Given the description of an element on the screen output the (x, y) to click on. 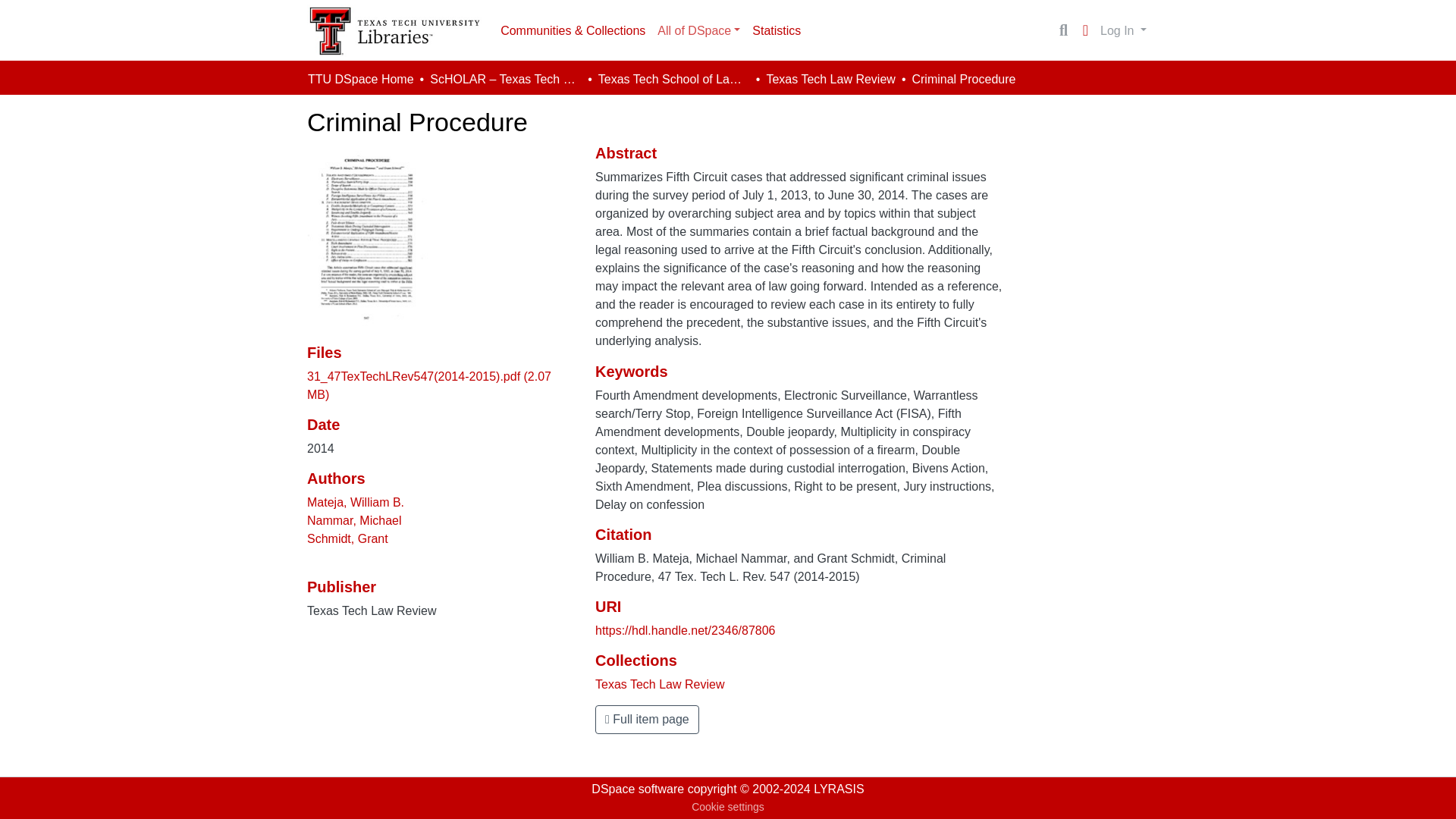
LYRASIS (838, 788)
Statistics (775, 30)
Search (1063, 30)
Language switch (1084, 30)
Schmidt, Grant (347, 538)
Cookie settings (727, 806)
TTU DSpace Home (360, 79)
Texas Tech School of Law Journals (673, 79)
Mateja, William B. (355, 502)
Nammar, Michael (354, 520)
DSpace software (637, 788)
Texas Tech Law Review (659, 684)
All of DSpace (697, 30)
Texas Tech Law Review (830, 79)
Statistics (775, 30)
